Given the description of an element on the screen output the (x, y) to click on. 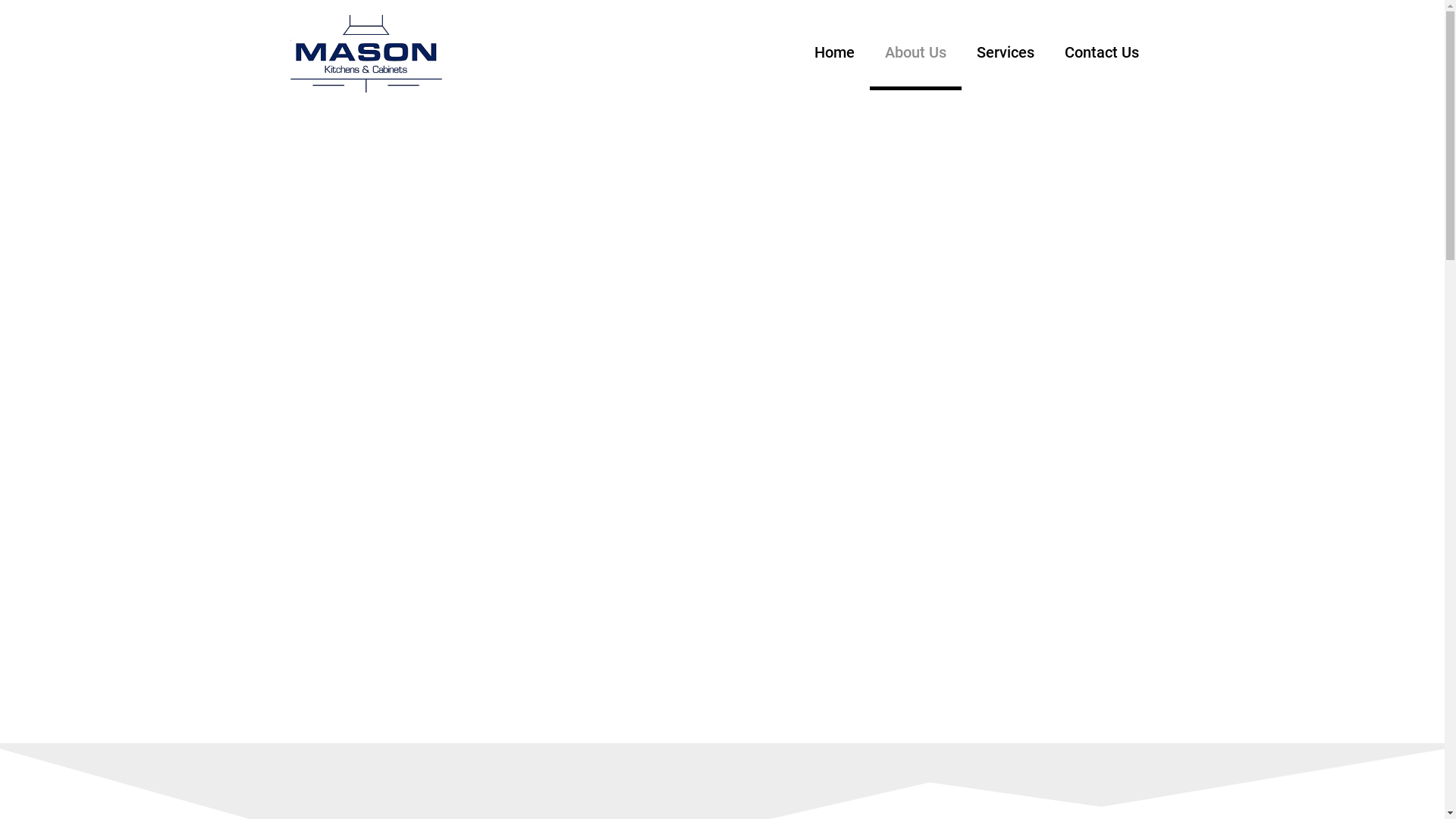
Home Element type: text (834, 52)
Contact Us Element type: text (1101, 52)
About Us Element type: text (915, 52)
Services Element type: text (1005, 52)
